Given the description of an element on the screen output the (x, y) to click on. 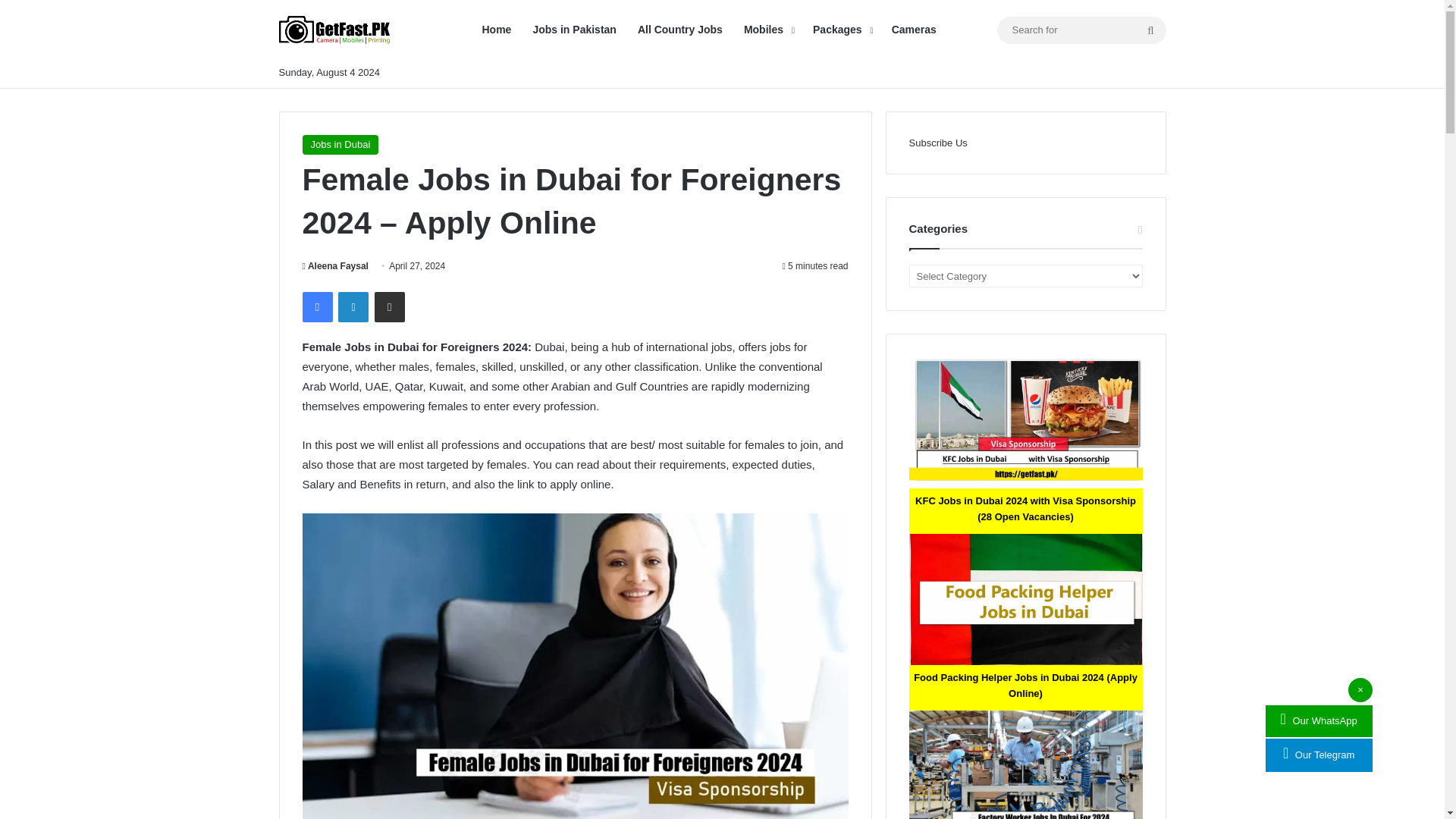
Aleena Faysal (334, 266)
Jobs in Pakistan (573, 29)
Packages (841, 29)
Aleena Faysal (334, 266)
LinkedIn (352, 306)
Share via Email (389, 306)
Search for (1080, 29)
LinkedIn (352, 306)
Cameras (913, 29)
Facebook (316, 306)
Share via Email (389, 306)
All Country Jobs (680, 29)
Mobiles (767, 29)
Jobs in Dubai (339, 144)
Search for (1150, 30)
